Given the description of an element on the screen output the (x, y) to click on. 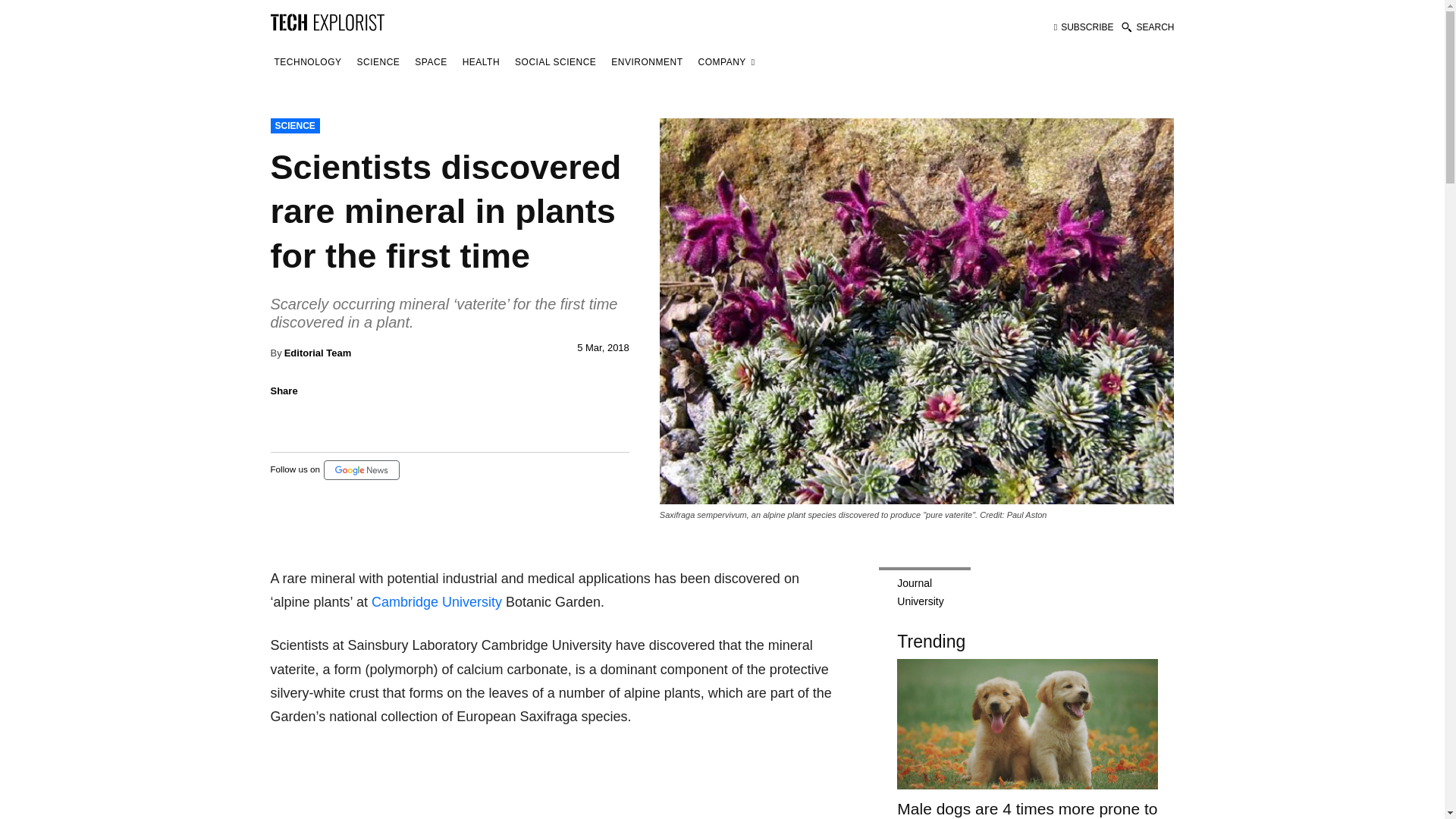
HEALTH (480, 62)
Cambridge University (436, 601)
Technology (307, 62)
Editorial Team (317, 352)
COMPANY (726, 62)
Health (480, 62)
SUBSCRIBE (1083, 26)
SCIENCE (378, 62)
ENVIRONMENT (646, 62)
TECHNOLOGY (307, 62)
SPACE (429, 62)
SEARCH (1147, 26)
SOCIAL SCIENCE (555, 62)
